Given the description of an element on the screen output the (x, y) to click on. 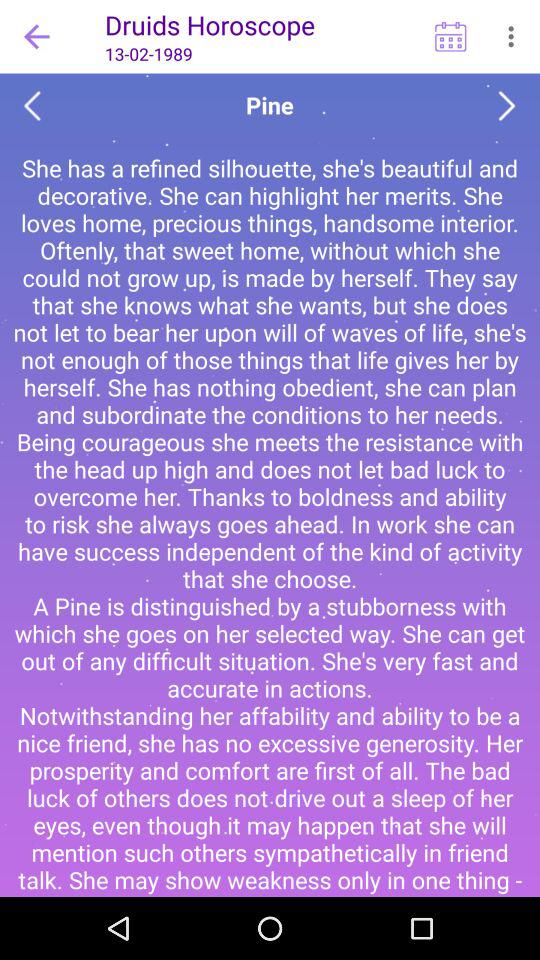
go to calendar (450, 36)
